Given the description of an element on the screen output the (x, y) to click on. 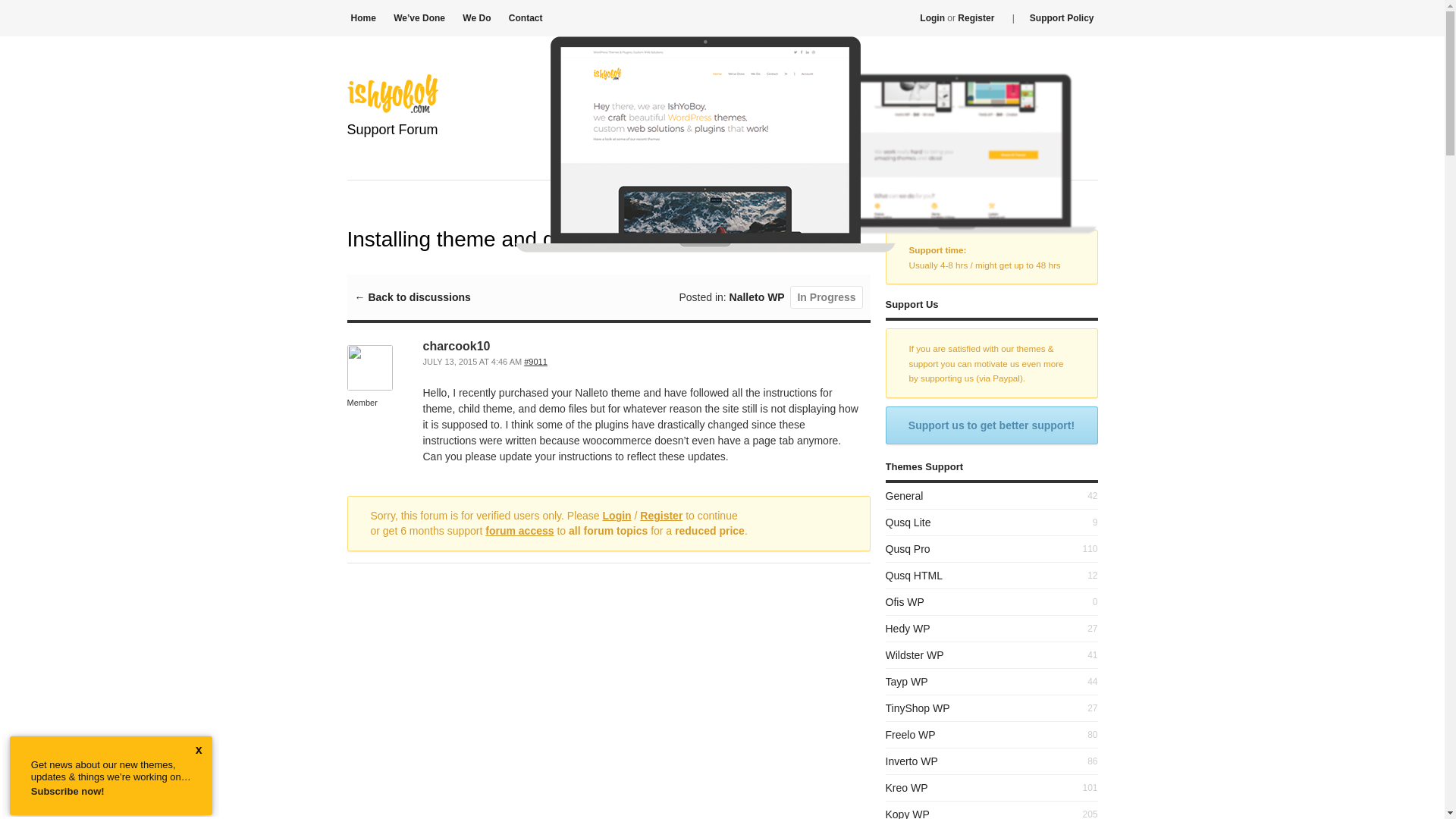
Hedy WP (907, 628)
Tayp WP (906, 681)
Support Forum (392, 149)
Nalleto WP (756, 297)
Freelo WP (910, 734)
Support Forum (392, 149)
View charcook10's profile (370, 386)
Installing theme and demo files (535, 361)
Wildster WP (914, 654)
Register (661, 515)
